Given the description of an element on the screen output the (x, y) to click on. 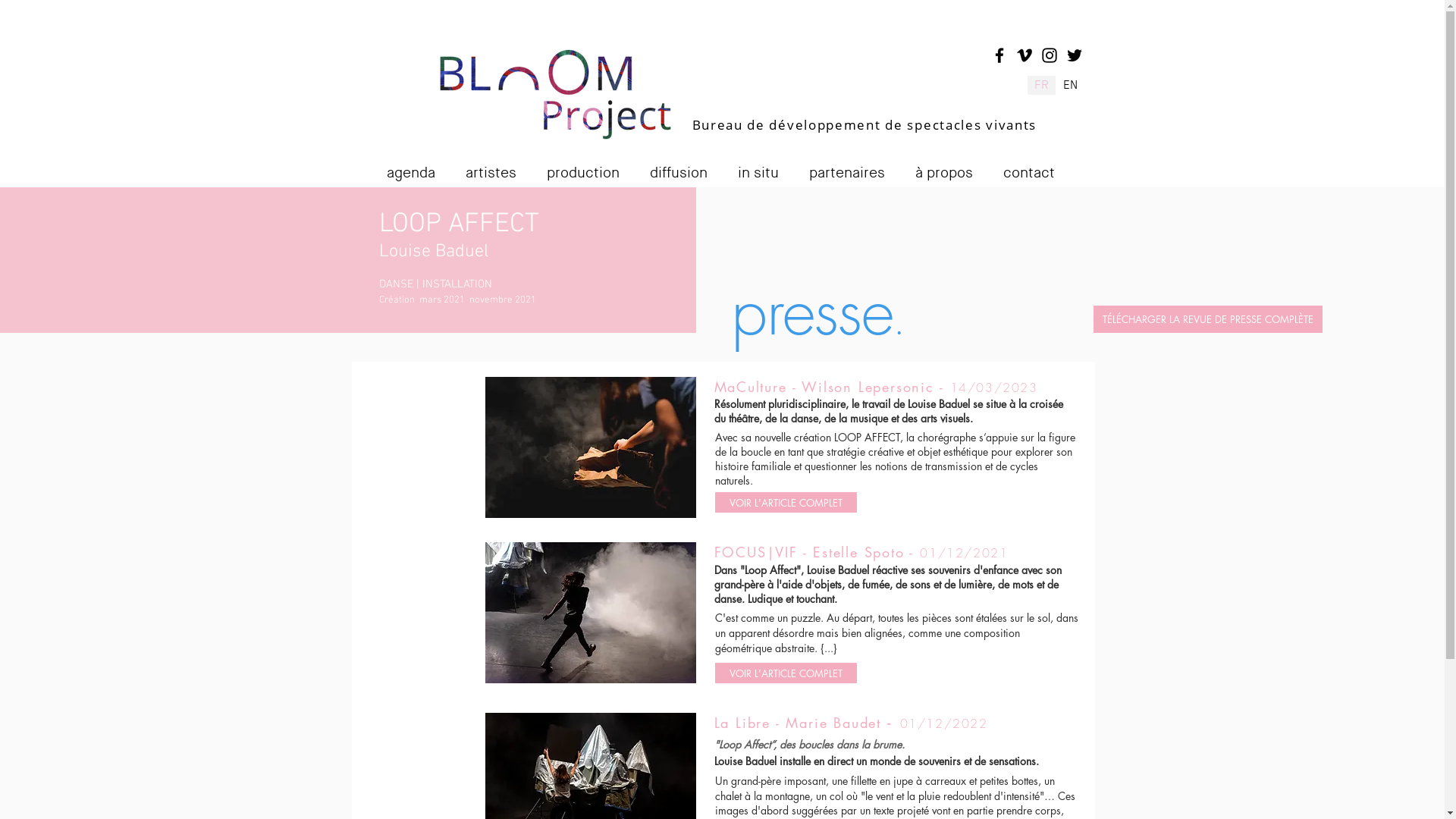
in situ Element type: text (766, 165)
contact Element type: text (1036, 165)
FR Element type: text (1040, 84)
EN Element type: text (1069, 84)
LOOP AFFECT Element type: text (459, 224)
production Element type: text (591, 165)
agenda Element type: text (419, 165)
VOIR L'ARTICLE COMPLET Element type: text (785, 672)
VOIR L'ARTICLE COMPLET Element type: text (785, 502)
diffusion Element type: text (687, 165)
partenaires Element type: text (855, 165)
artistes Element type: text (499, 165)
